Given the description of an element on the screen output the (x, y) to click on. 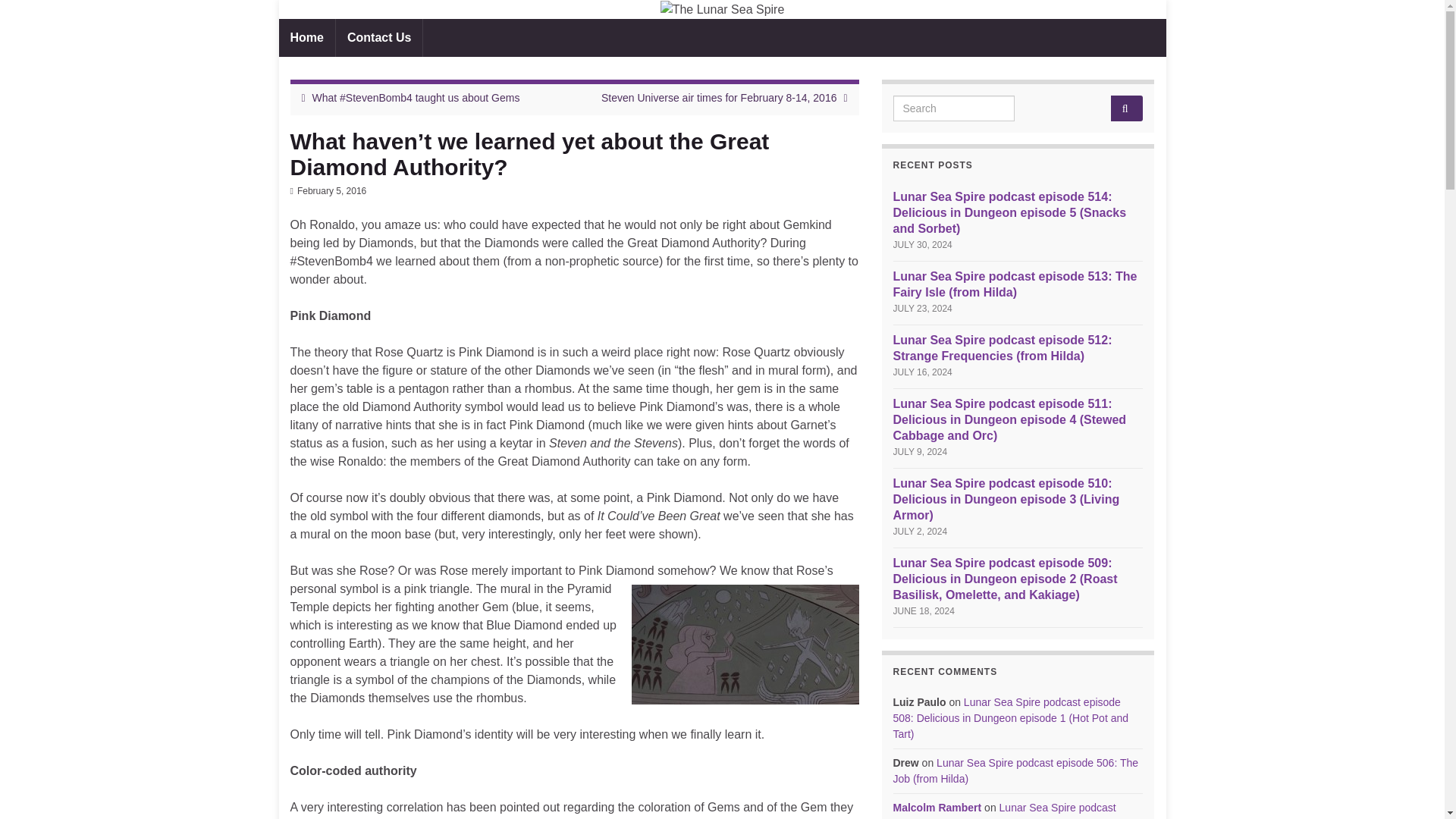
The Lunar Sea Spire (722, 9)
Malcolm Rambert (937, 807)
Contact Us (379, 37)
Steven Universe air times for February 8-14, 2016 (718, 97)
2016-02-05T12:00:21-06:00 (331, 190)
Home (306, 37)
